Given the description of an element on the screen output the (x, y) to click on. 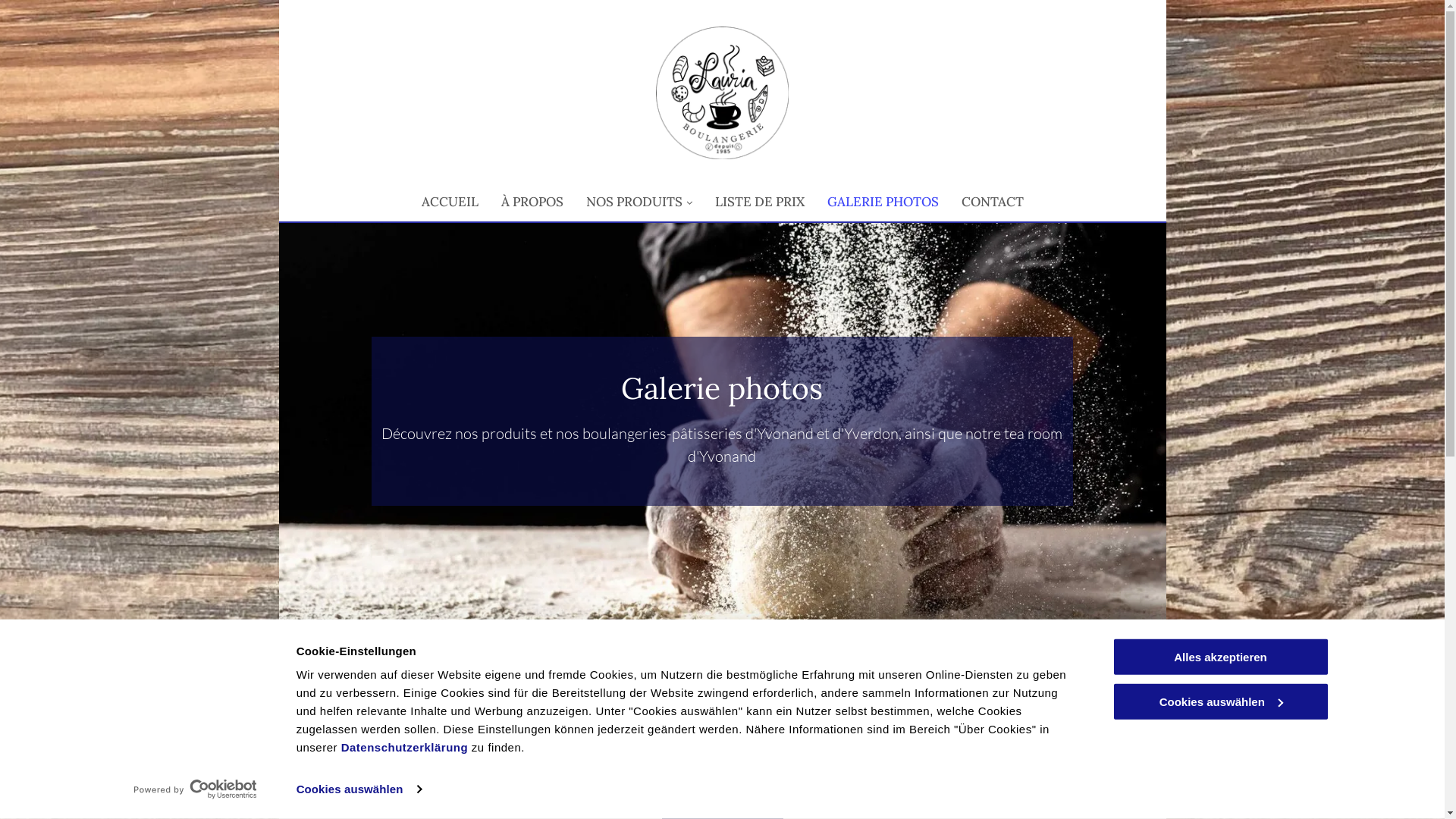
NOS PRODUITS Element type: text (638, 201)
ACCUEIL Element type: text (449, 201)
GALERIE PHOTOS Element type: text (882, 201)
Alles akzeptieren Element type: text (1219, 656)
CONTACT Element type: text (991, 201)
LISTE DE PRIX Element type: text (759, 201)
